Given the description of an element on the screen output the (x, y) to click on. 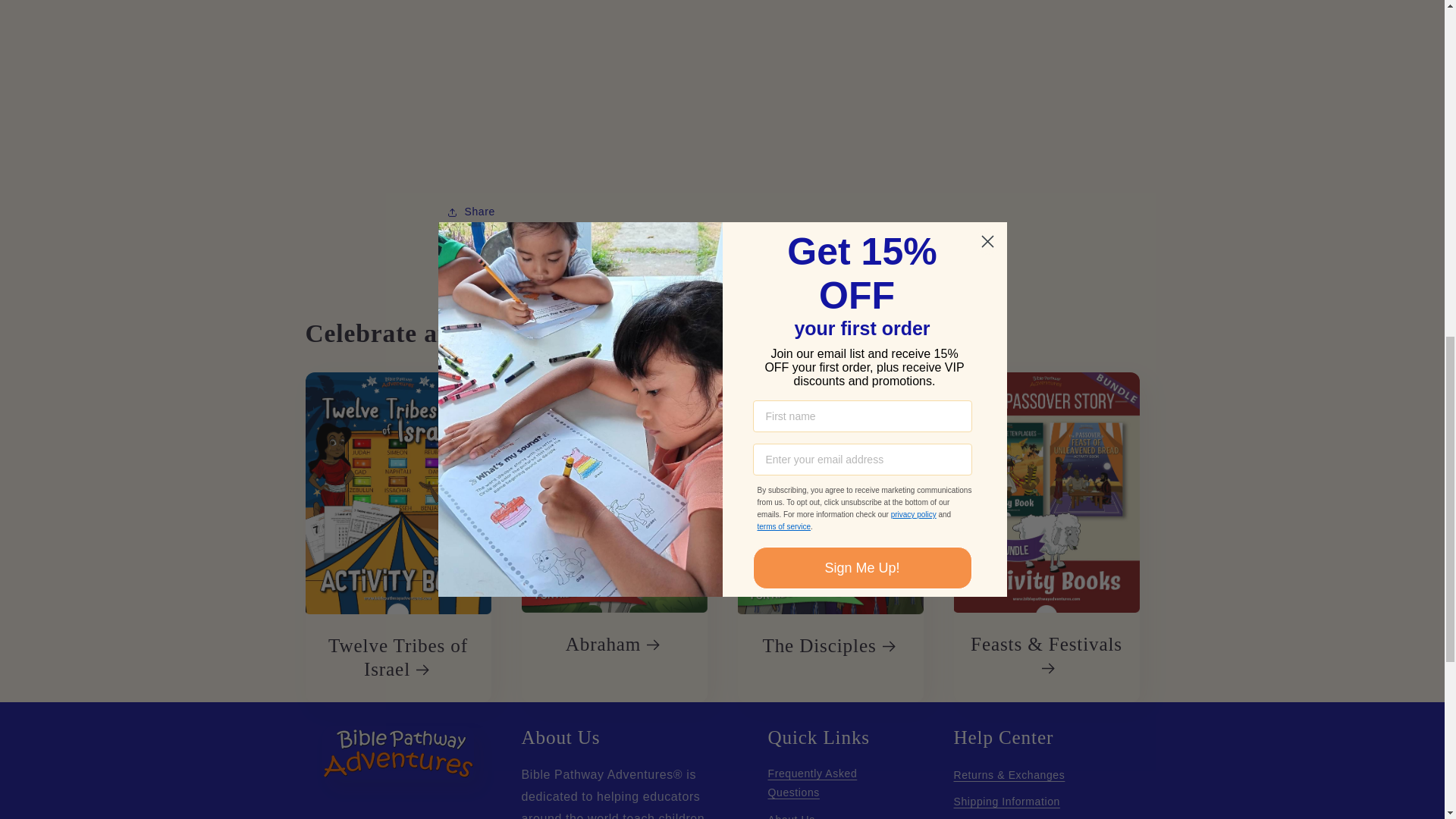
YouTube video player (721, 82)
